Given the description of an element on the screen output the (x, y) to click on. 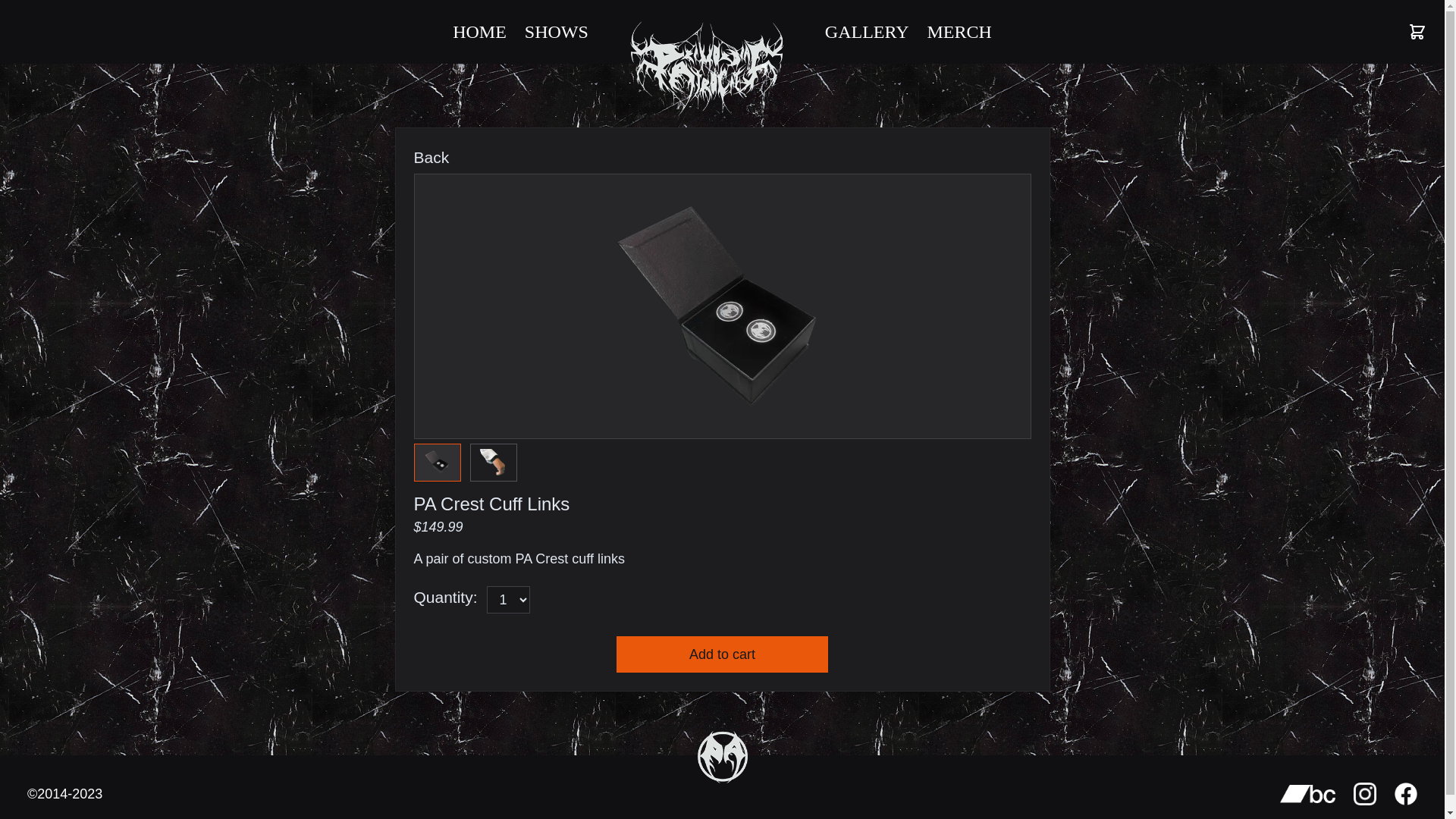
Back Element type: text (440, 157)
GALLERY Element type: text (867, 31)
HOME Element type: text (479, 31)
Add to cart Element type: text (722, 654)
MERCH Element type: text (958, 31)
SHOWS Element type: text (556, 31)
